Given the description of an element on the screen output the (x, y) to click on. 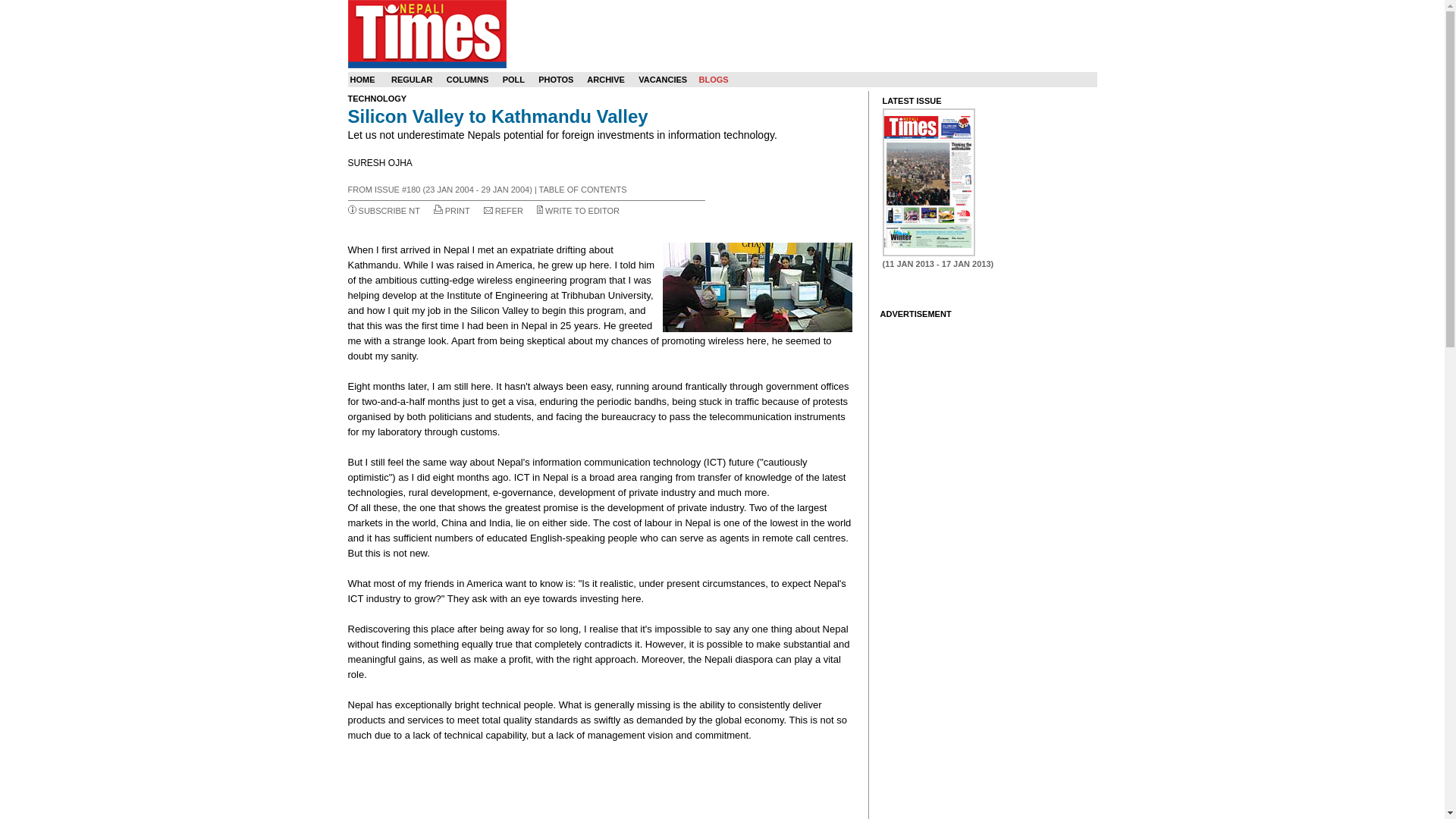
PRINT (458, 210)
WRITE TO EDITOR (582, 210)
ARCHIVE (605, 79)
PHOTOS (555, 79)
SUBSCRIBE NT (389, 210)
Nepali Times (426, 33)
Advertisement (601, 780)
COLUMNS (467, 79)
HOME (362, 79)
TABLE OF CONTENTS (582, 189)
